Given the description of an element on the screen output the (x, y) to click on. 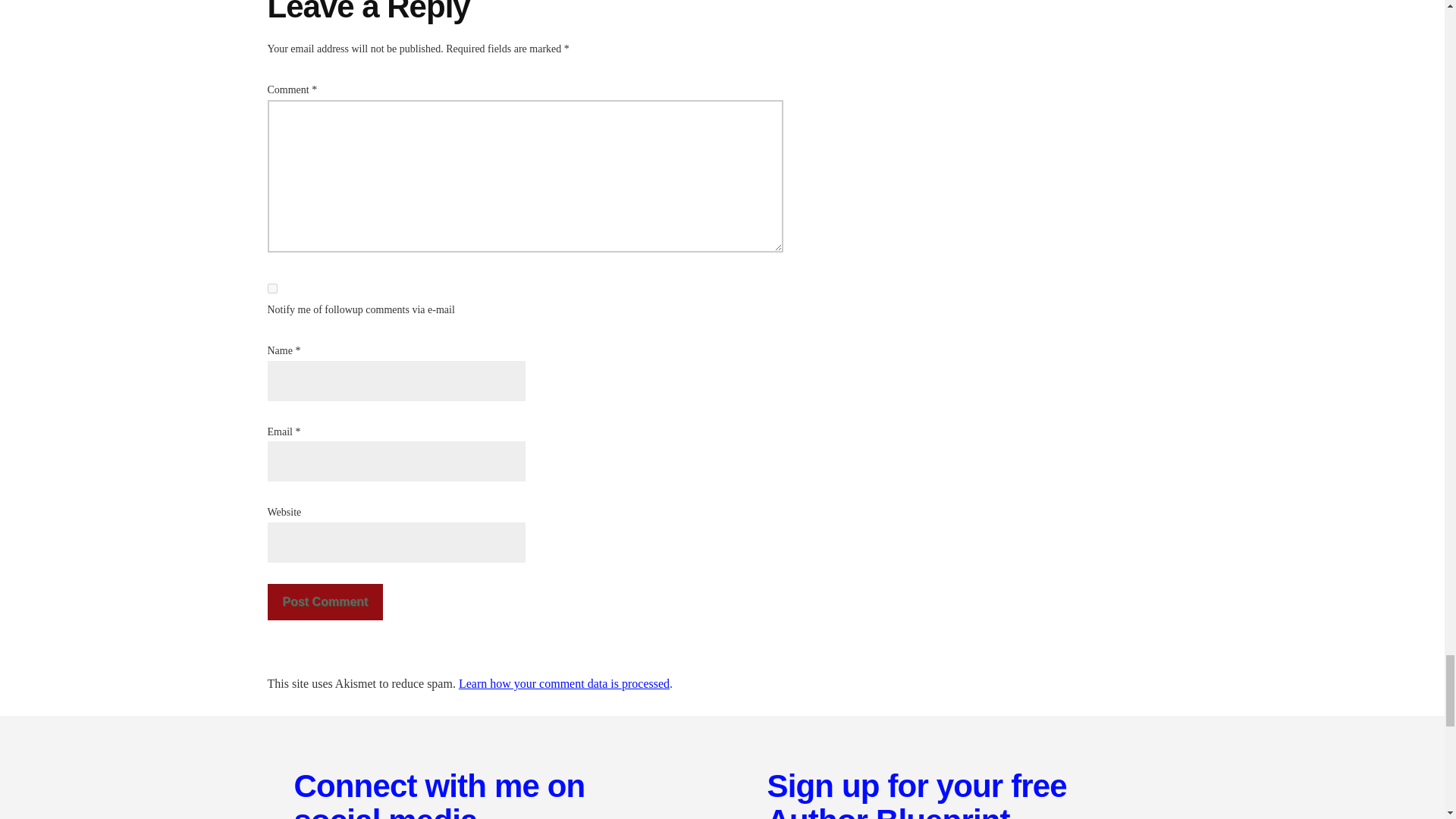
Post Comment (324, 601)
subscribe (271, 288)
